Given the description of an element on the screen output the (x, y) to click on. 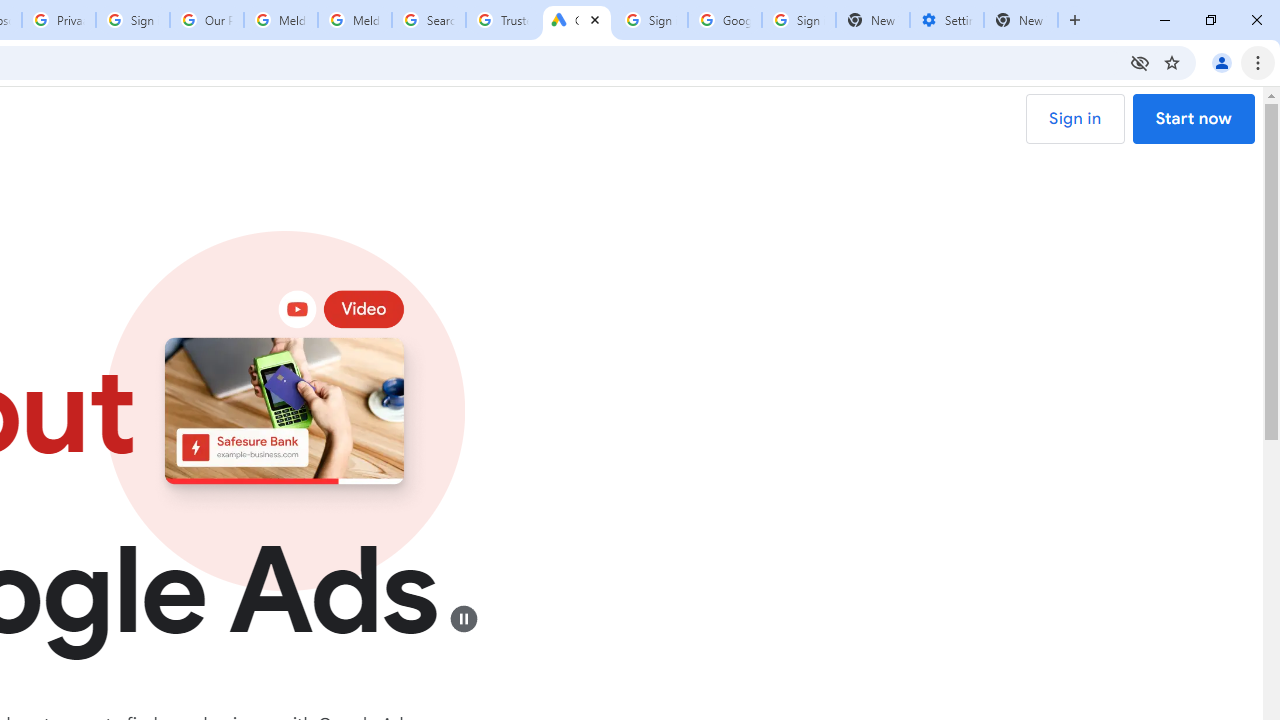
Settings - Addresses and more (947, 20)
Trusted Information and Content - Google Safety Center (502, 20)
Pause animation (462, 618)
Search our Doodle Library Collection - Google Doodles (428, 20)
New Tab (1021, 20)
